Given the description of an element on the screen output the (x, y) to click on. 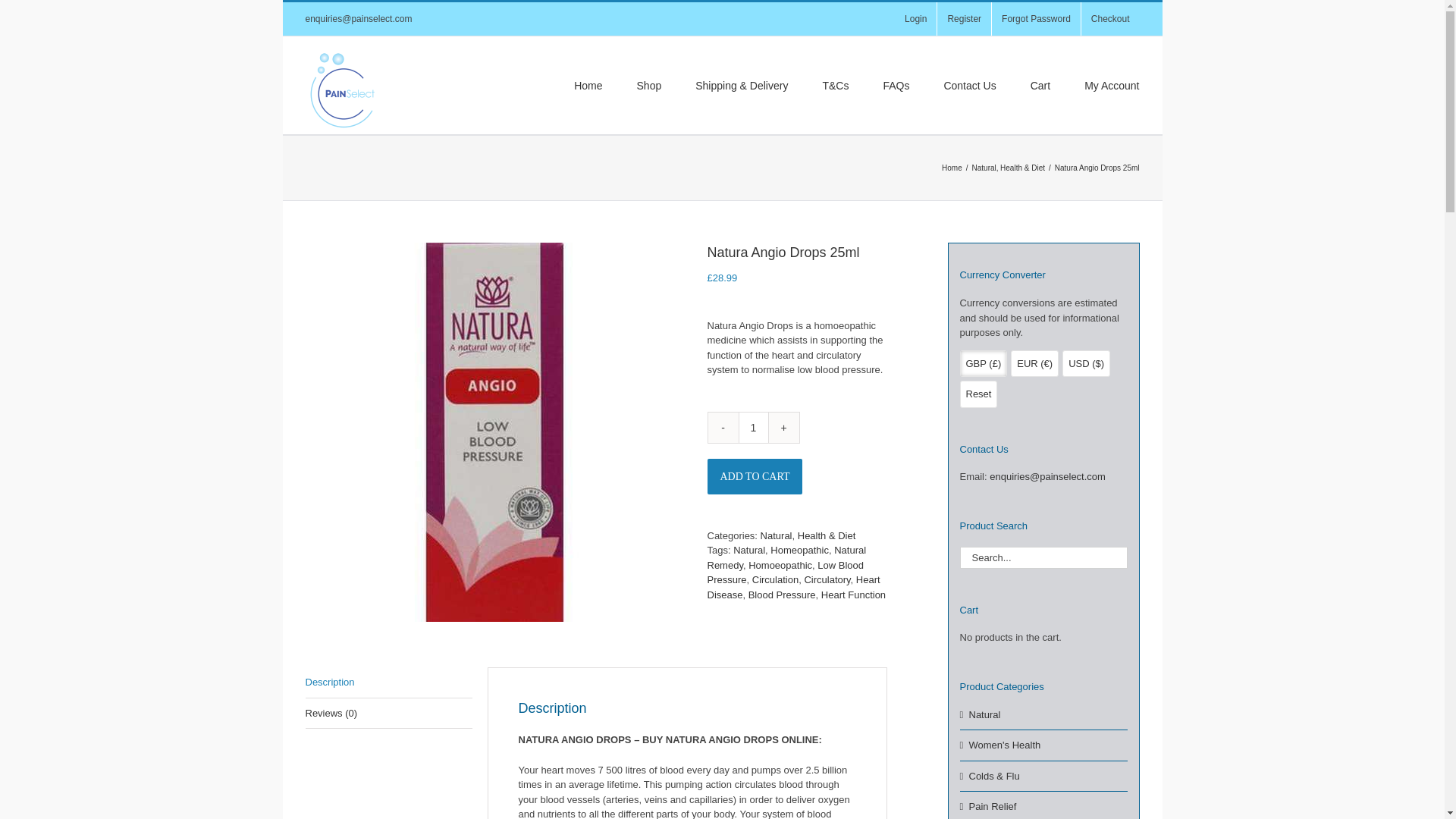
Log In (1181, 232)
Contact Us (969, 84)
My Account (1111, 84)
- (722, 427)
Cart (1039, 84)
1 (753, 427)
FAQs (895, 84)
Checkout (1110, 19)
Original price:28.99 (721, 277)
Register (964, 19)
Forgot Password (1035, 19)
Login (915, 19)
Shop (649, 84)
Home (587, 84)
